Given the description of an element on the screen output the (x, y) to click on. 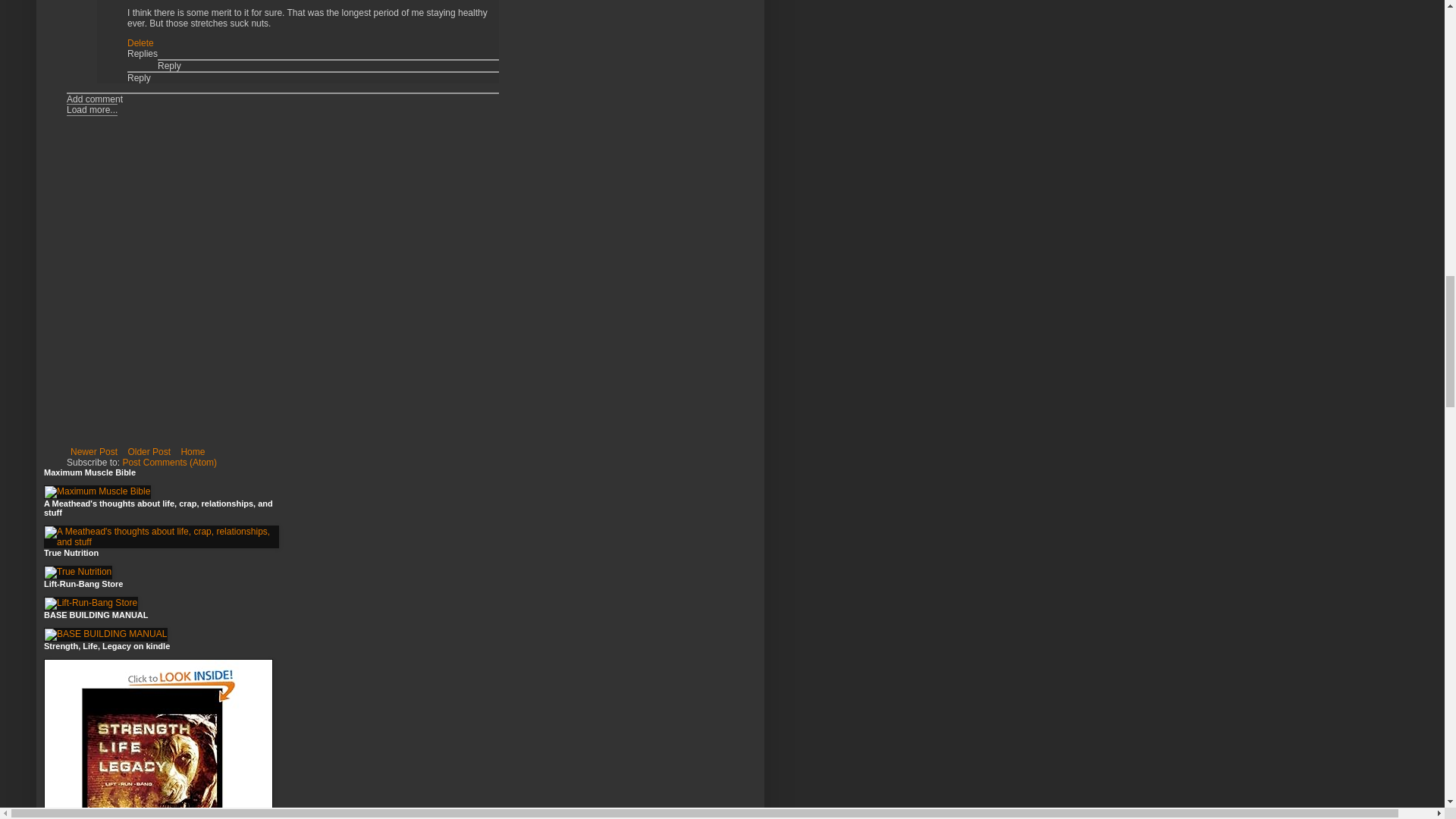
Newer Post (93, 452)
Older Post (148, 452)
